Given the description of an element on the screen output the (x, y) to click on. 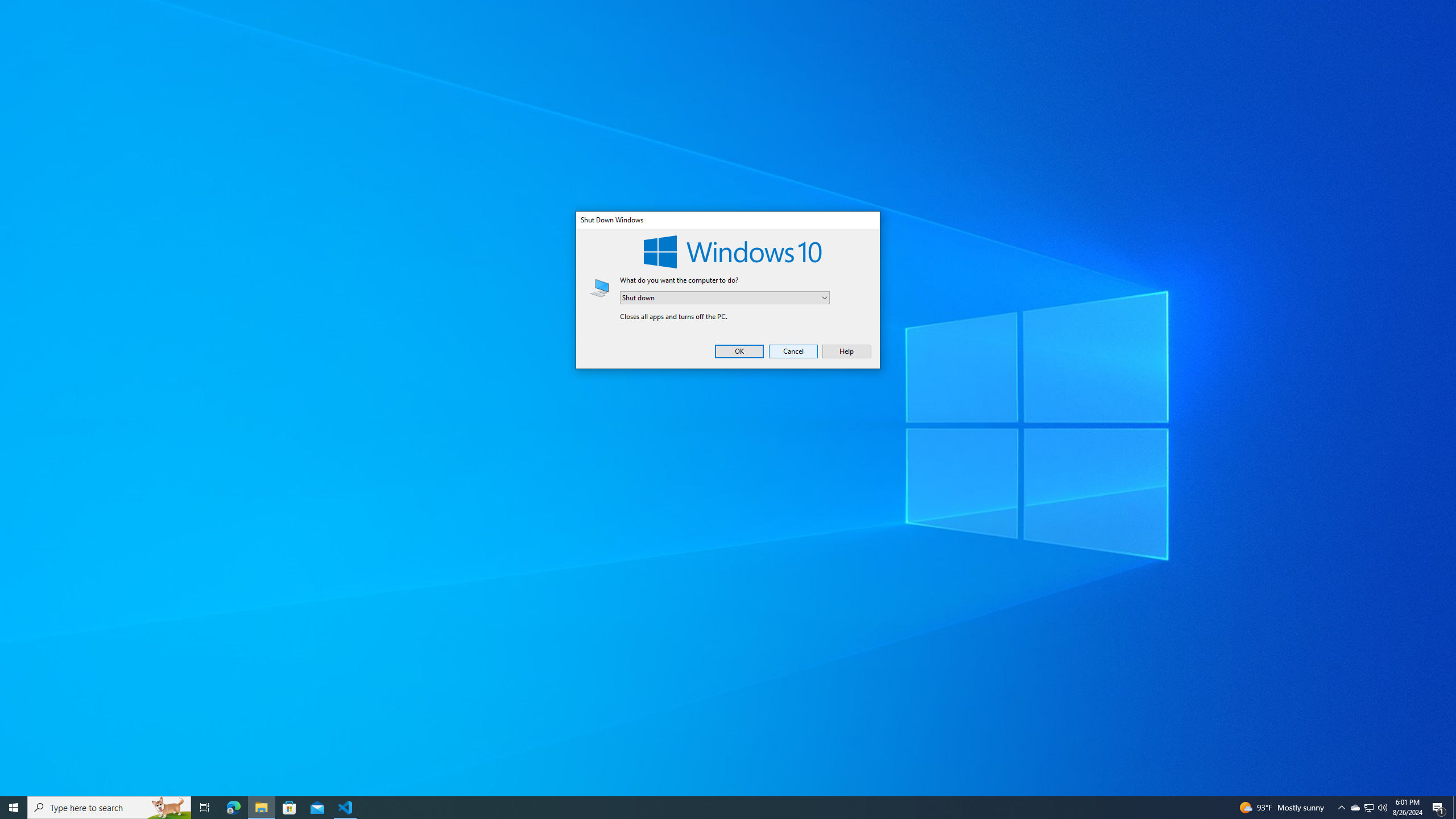
Notification Chevron (1341, 807)
What do you want the computer to do? (1355, 807)
Action Center, 1 new notification (724, 297)
User Promoted Notification Area (1439, 807)
Microsoft Edge (1368, 807)
Cancel (233, 807)
